Given the description of an element on the screen output the (x, y) to click on. 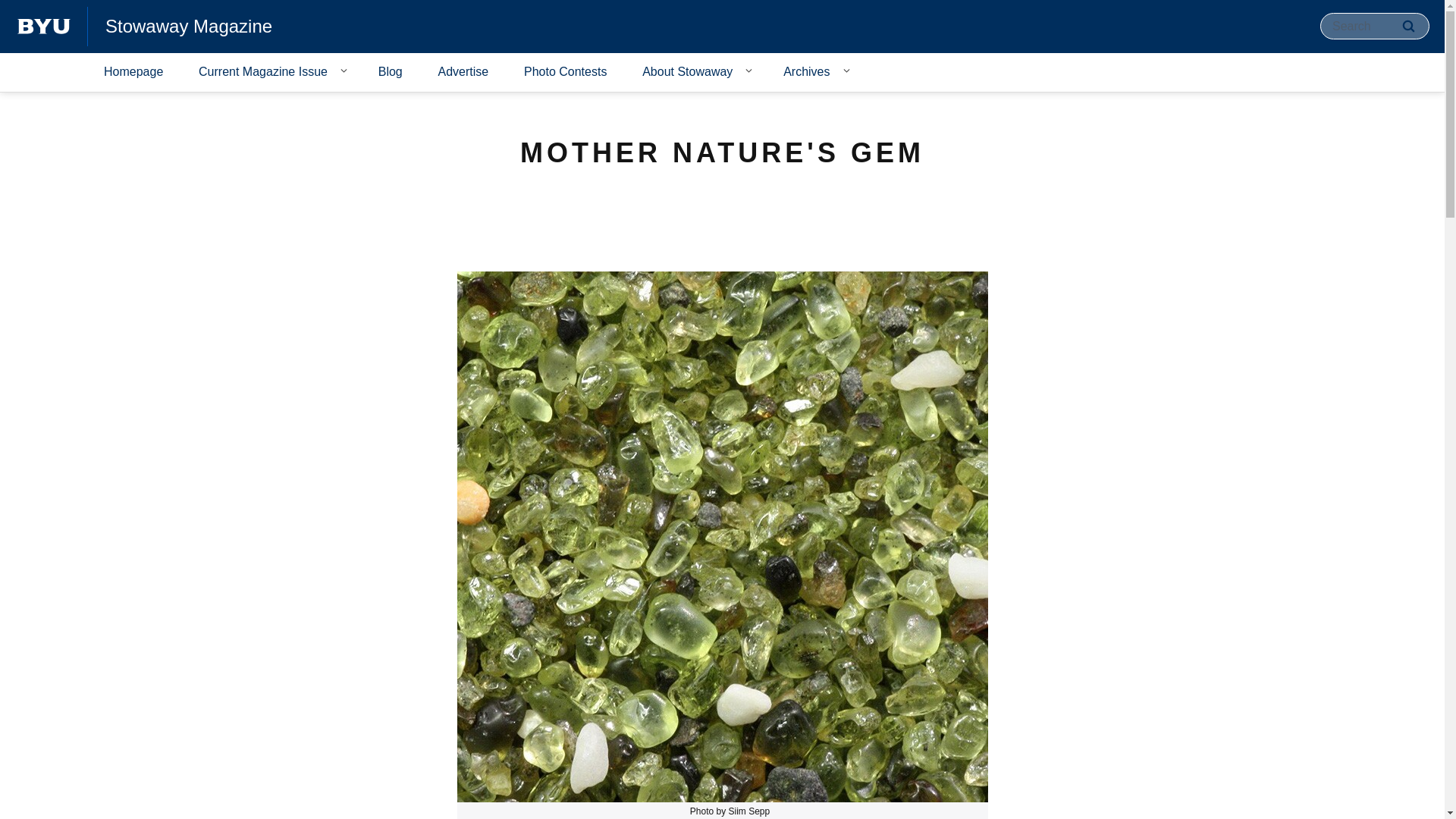
Blog (390, 73)
Stowaway Magazine (188, 25)
Advertise (463, 73)
Search (1408, 26)
Photo Contests (564, 73)
Homepage (133, 73)
